Given the description of an element on the screen output the (x, y) to click on. 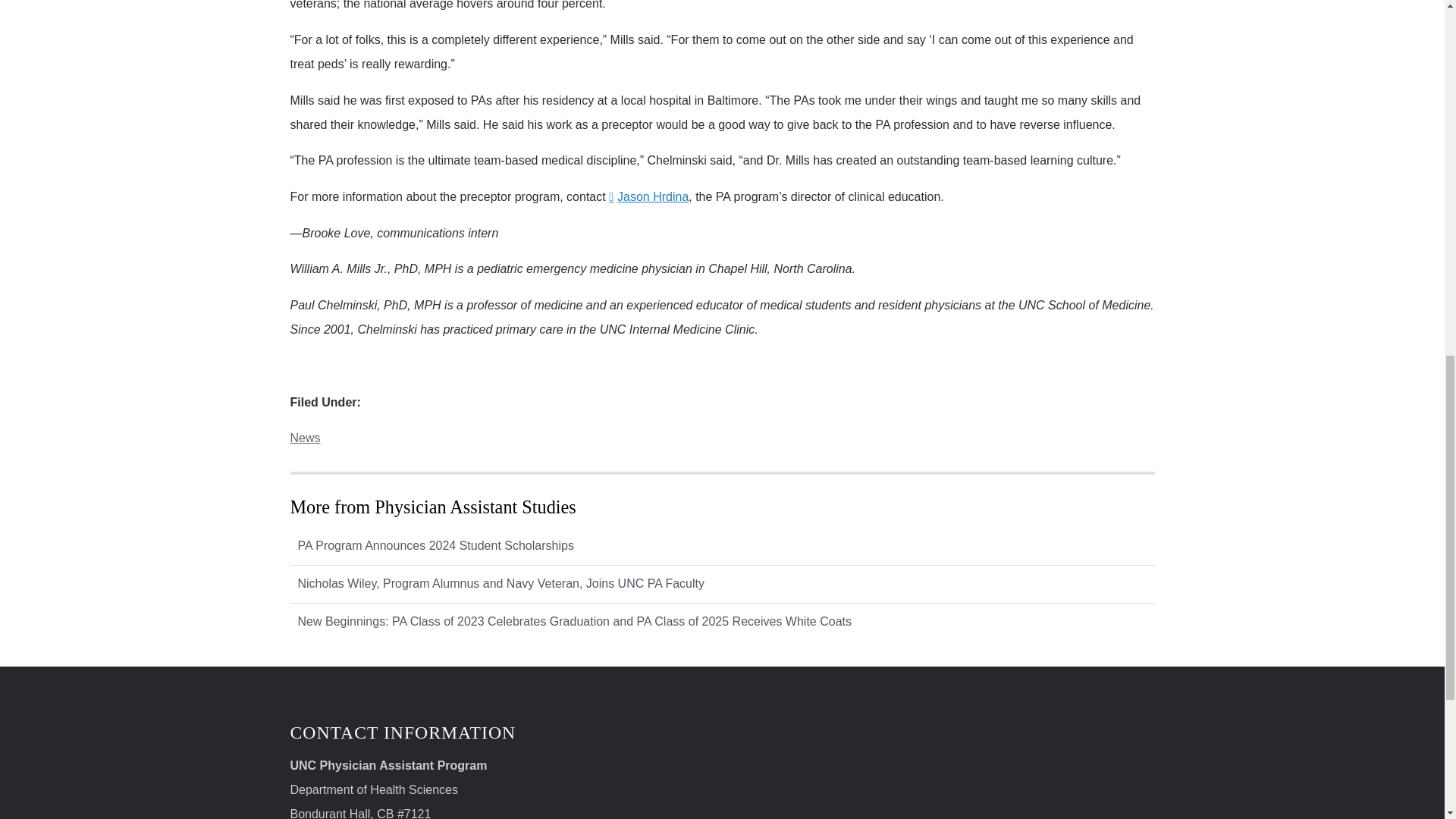
Jason Hrdina (648, 196)
News (304, 437)
PA Program Announces 2024 Student Scholarships (721, 546)
PA Program Announces 2024 Student Scholarships (721, 546)
